Given the description of an element on the screen output the (x, y) to click on. 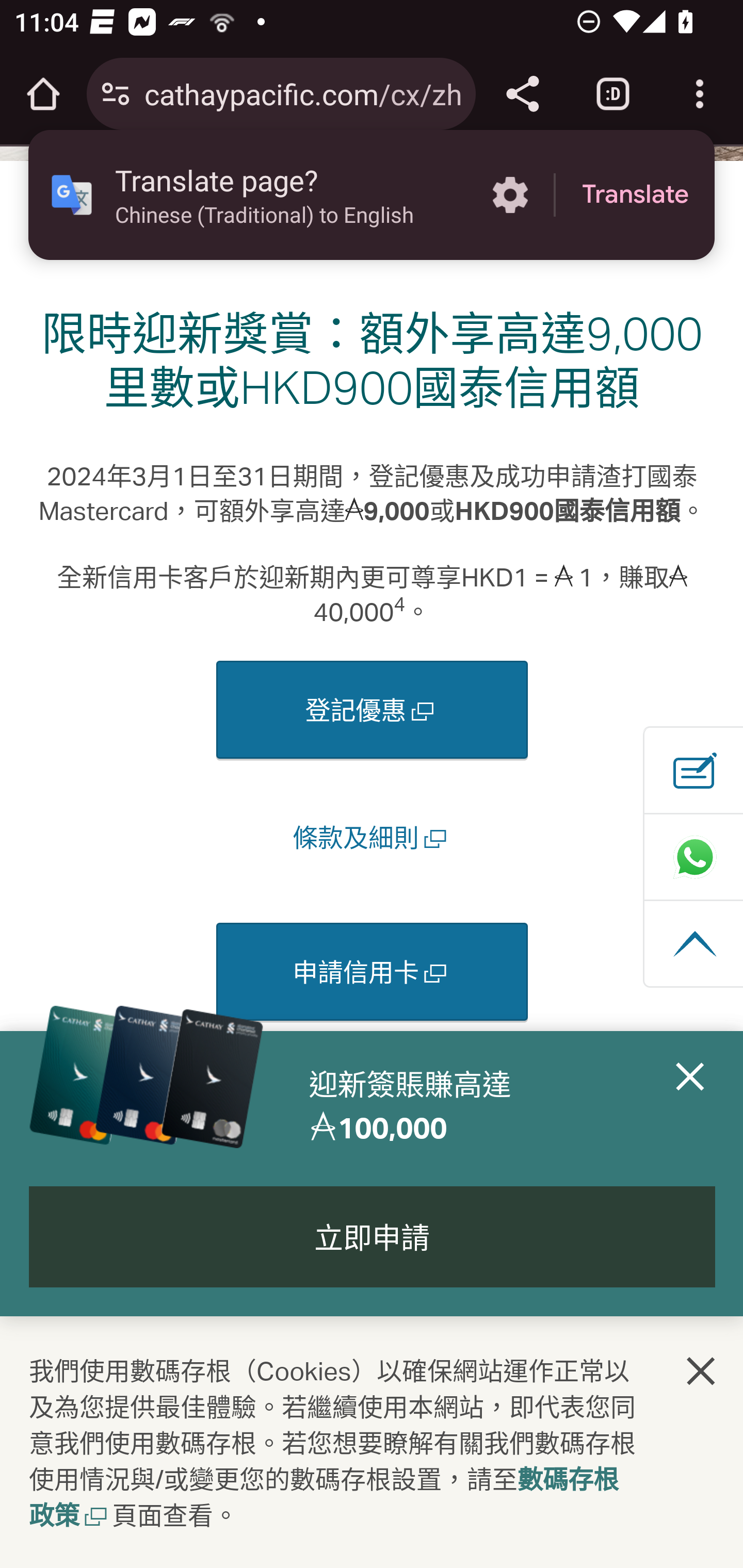
Open the home page (43, 93)
Connection is secure (115, 93)
Share (522, 93)
Switch or close tabs (612, 93)
Customize and control Google Chrome (699, 93)
Translate (634, 195)
More options in the Translate page? (509, 195)
登記優惠 開啟新視窗 登記優惠 開啟新視窗 (371, 710)
條款及細則 開啟新視窗 條款及細則 開啟新視窗 (372, 838)
申請信用卡 開啟新視窗 申請信用卡 開啟新視窗 (371, 972)
Close (690, 1105)
關閉 (701, 1371)
數碼存根政策, 在新窗口中打开 數碼存根政策 開啟新視窗 (323, 1498)
